Given the description of an element on the screen output the (x, y) to click on. 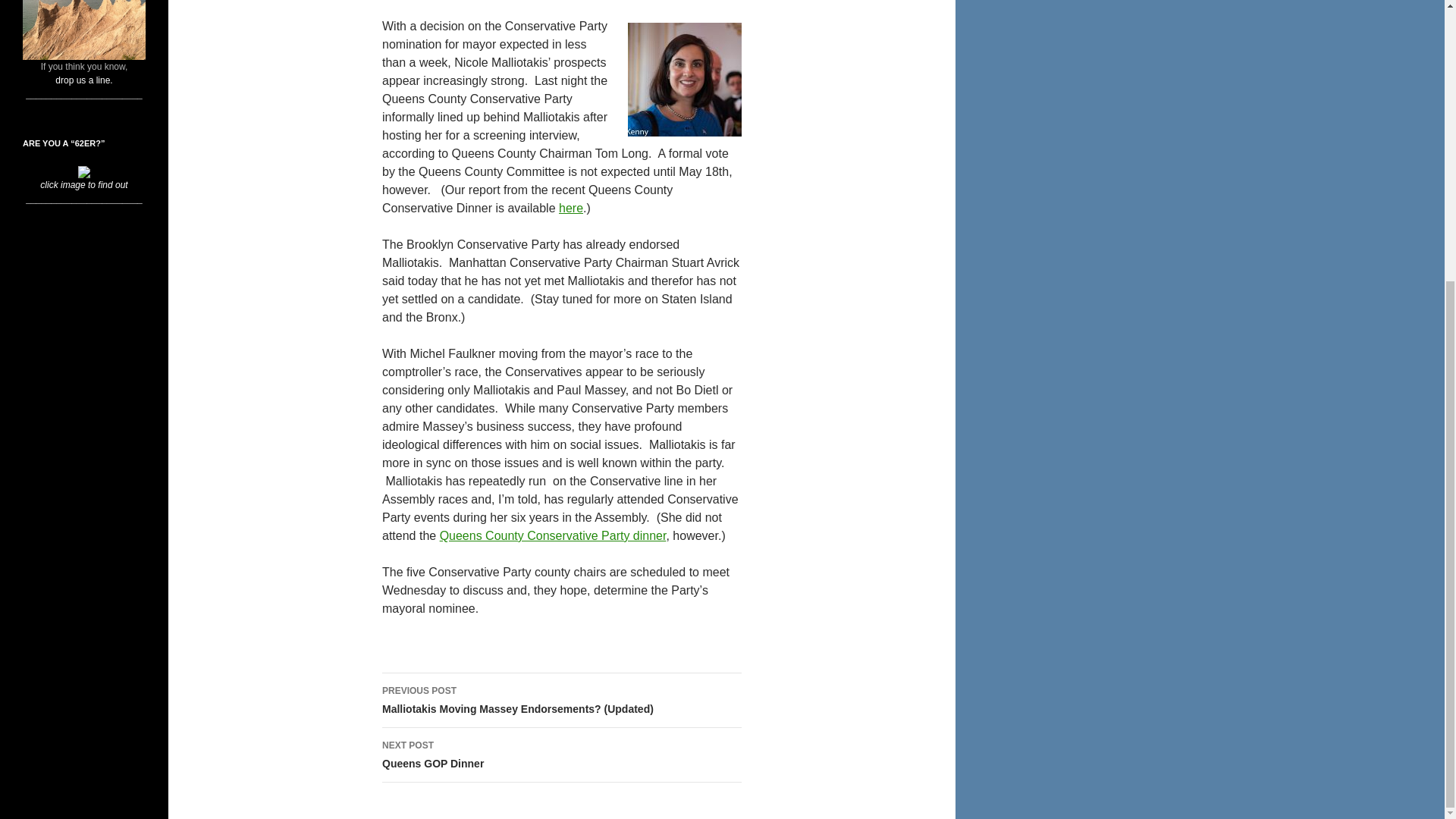
Queens County Conservative Party dinner (552, 535)
drop us a line. (83, 80)
click image to find out (84, 178)
here (571, 207)
